Given the description of an element on the screen output the (x, y) to click on. 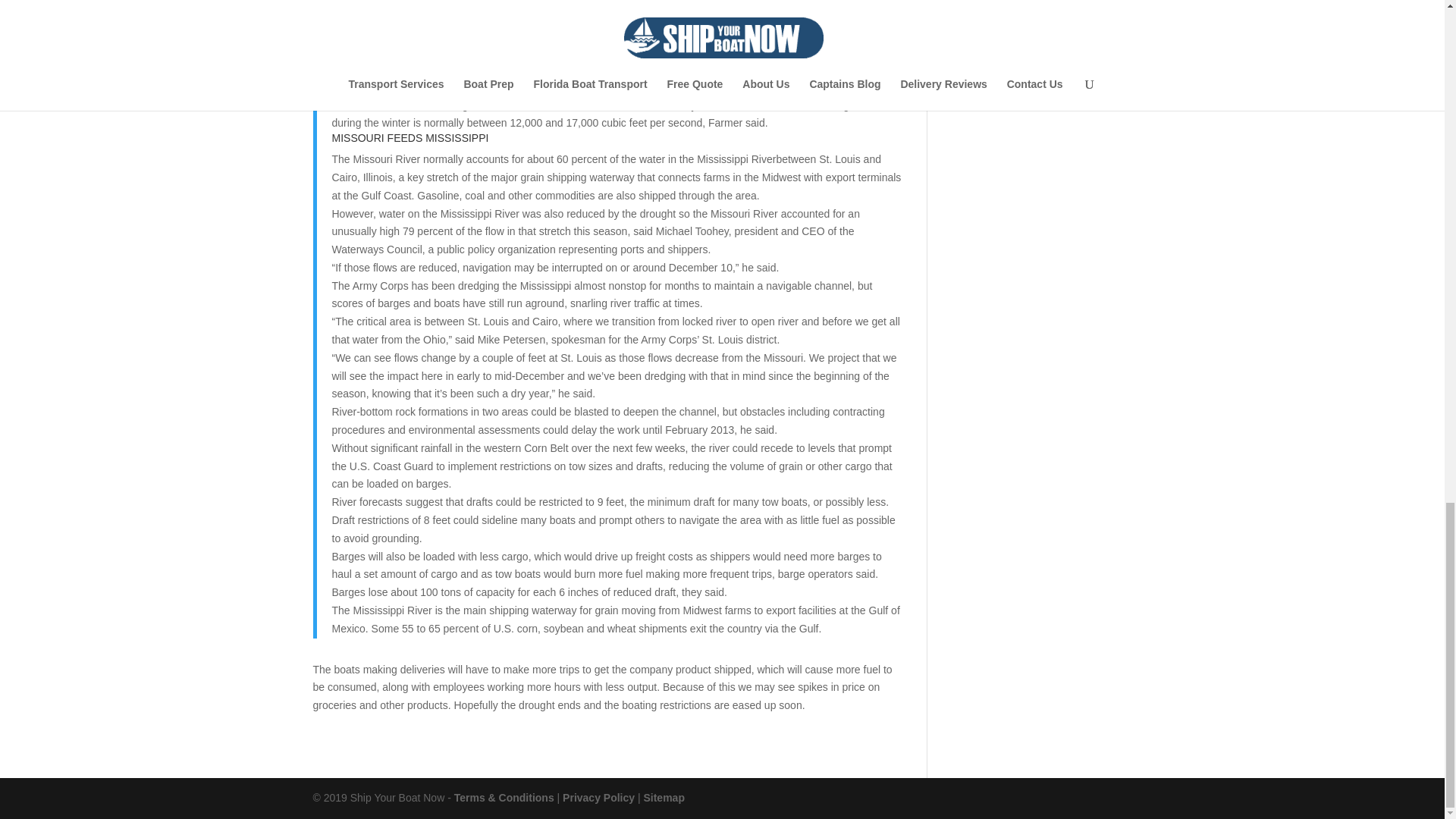
Privacy Policy (598, 797)
Sitemap (663, 797)
